Given the description of an element on the screen output the (x, y) to click on. 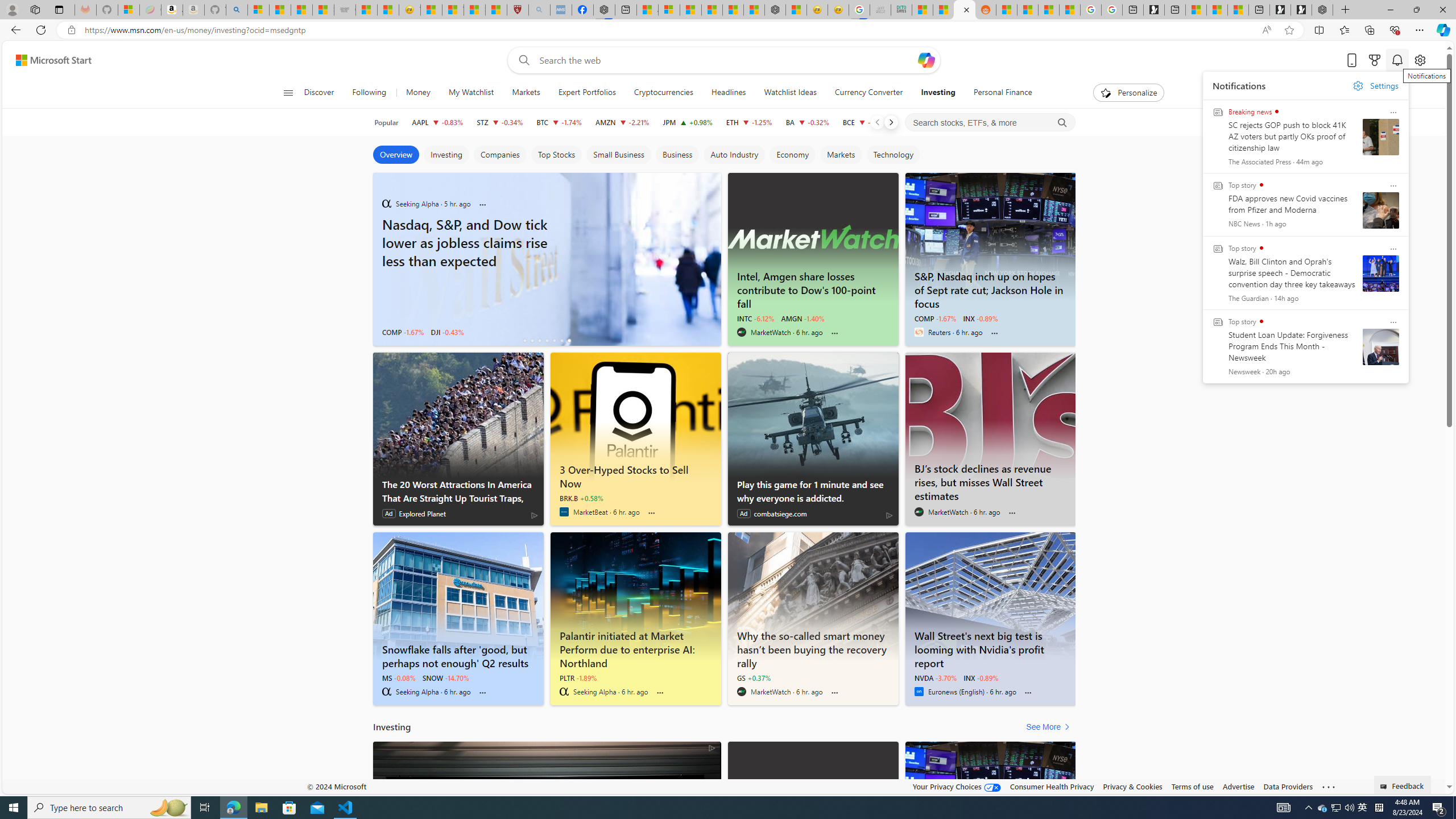
Technology (893, 154)
COMP -1.67% (935, 317)
Markets (526, 92)
SNOW -14.70% (445, 677)
Expert Portfolios (586, 92)
Stocks - MSN (323, 9)
INTC -6.12% (755, 317)
